Given the description of an element on the screen output the (x, y) to click on. 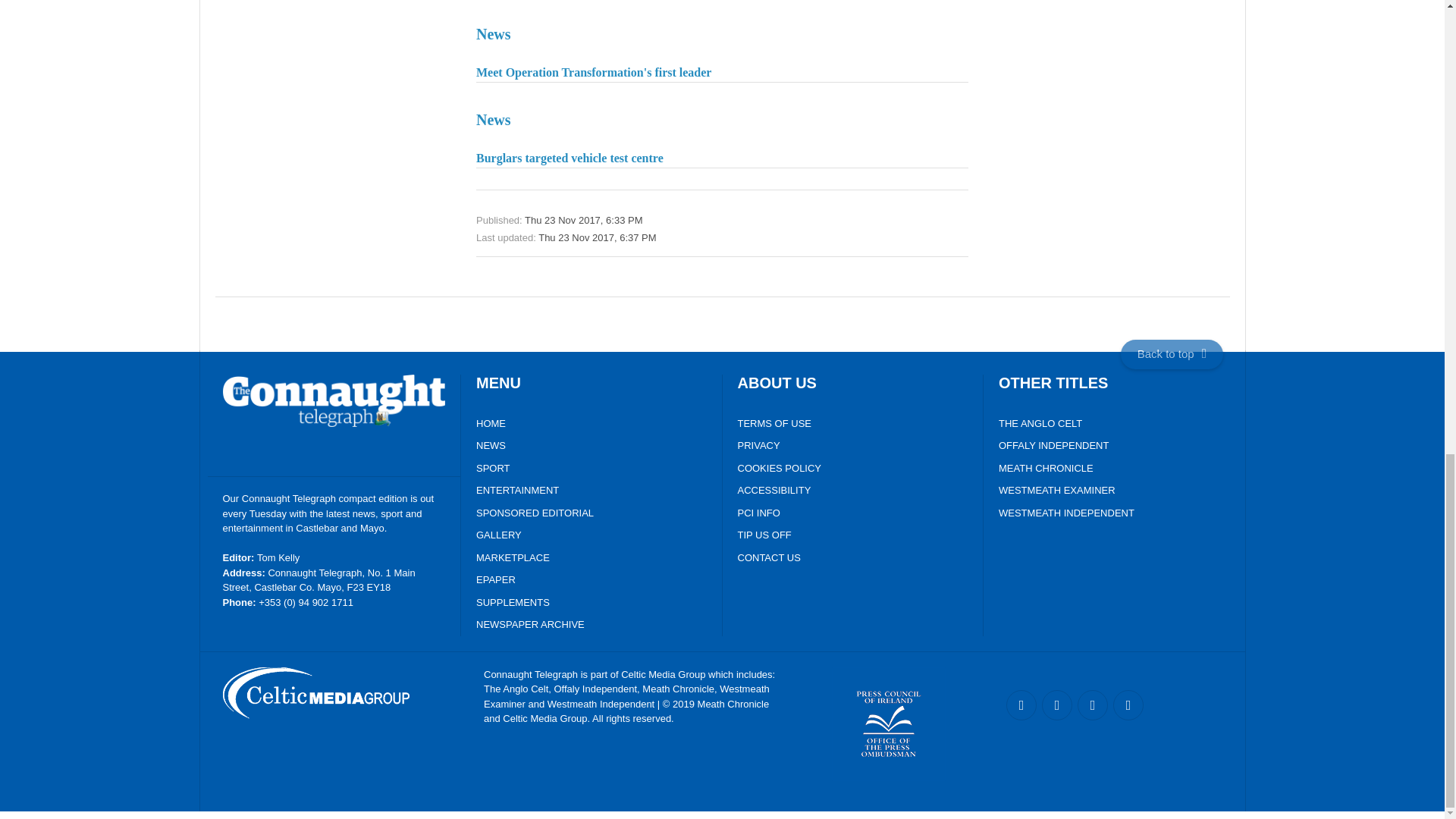
Burglars targeted vehicle test centre (722, 135)
Meet Operation Transformation's first leader (722, 49)
